Given the description of an element on the screen output the (x, y) to click on. 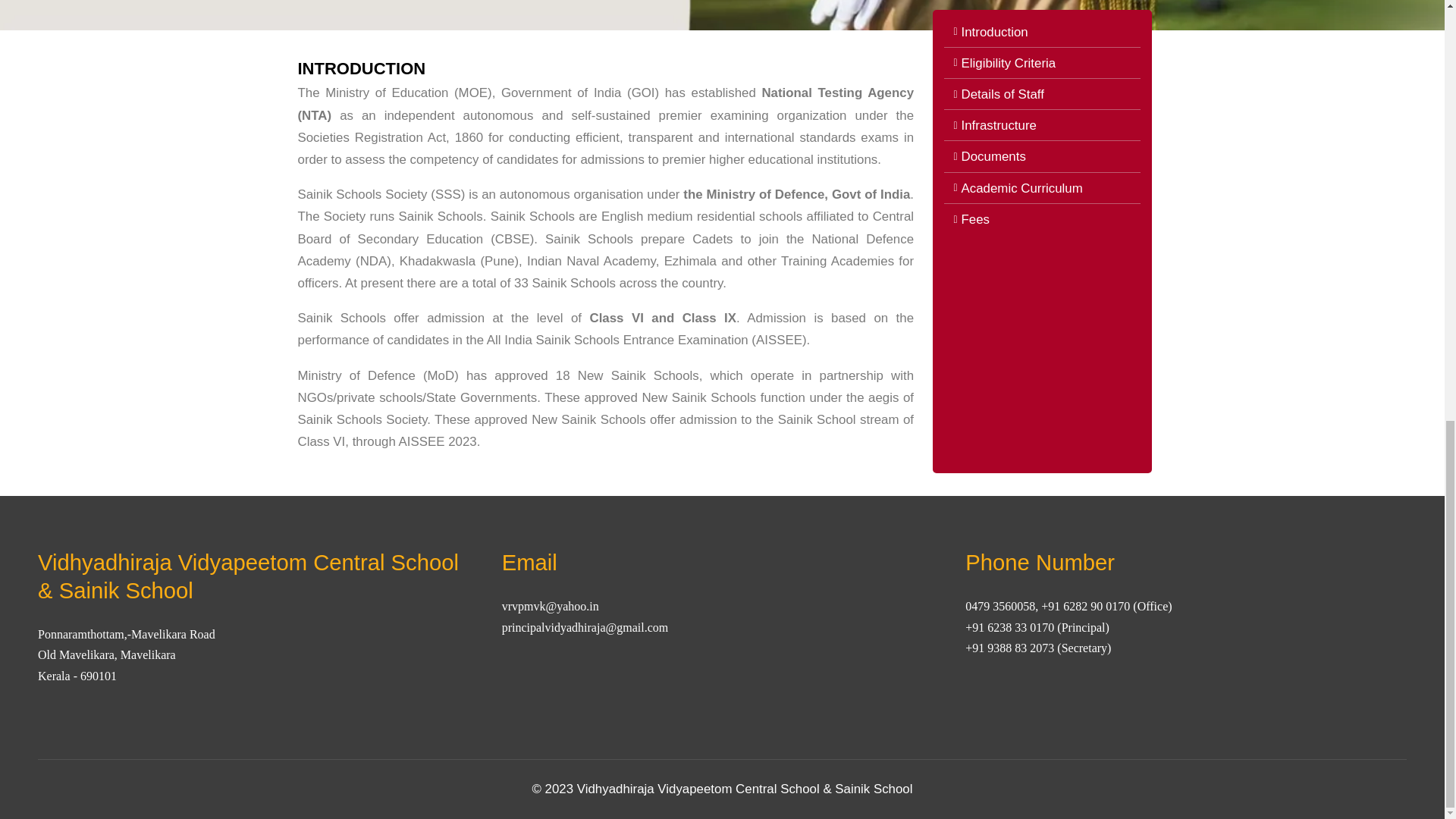
Infrastructure (1041, 125)
Introduction (1041, 32)
Eligibility Criteria (1041, 63)
Documents (1041, 156)
Fees (1041, 219)
Details of Staff (1041, 94)
Academic Curriculum (1041, 188)
